Given the description of an element on the screen output the (x, y) to click on. 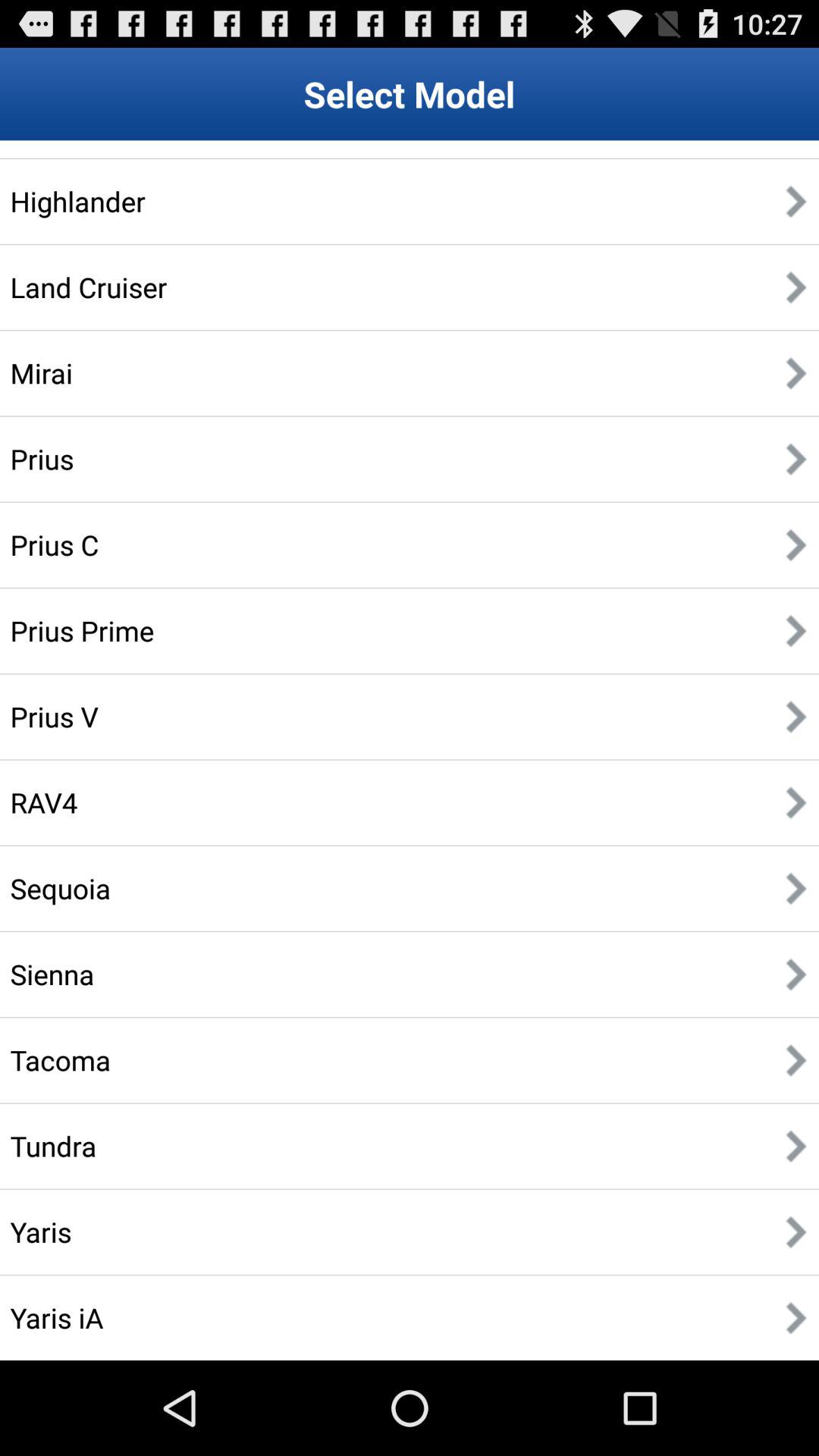
select item below the highlander item (88, 286)
